Given the description of an element on the screen output the (x, y) to click on. 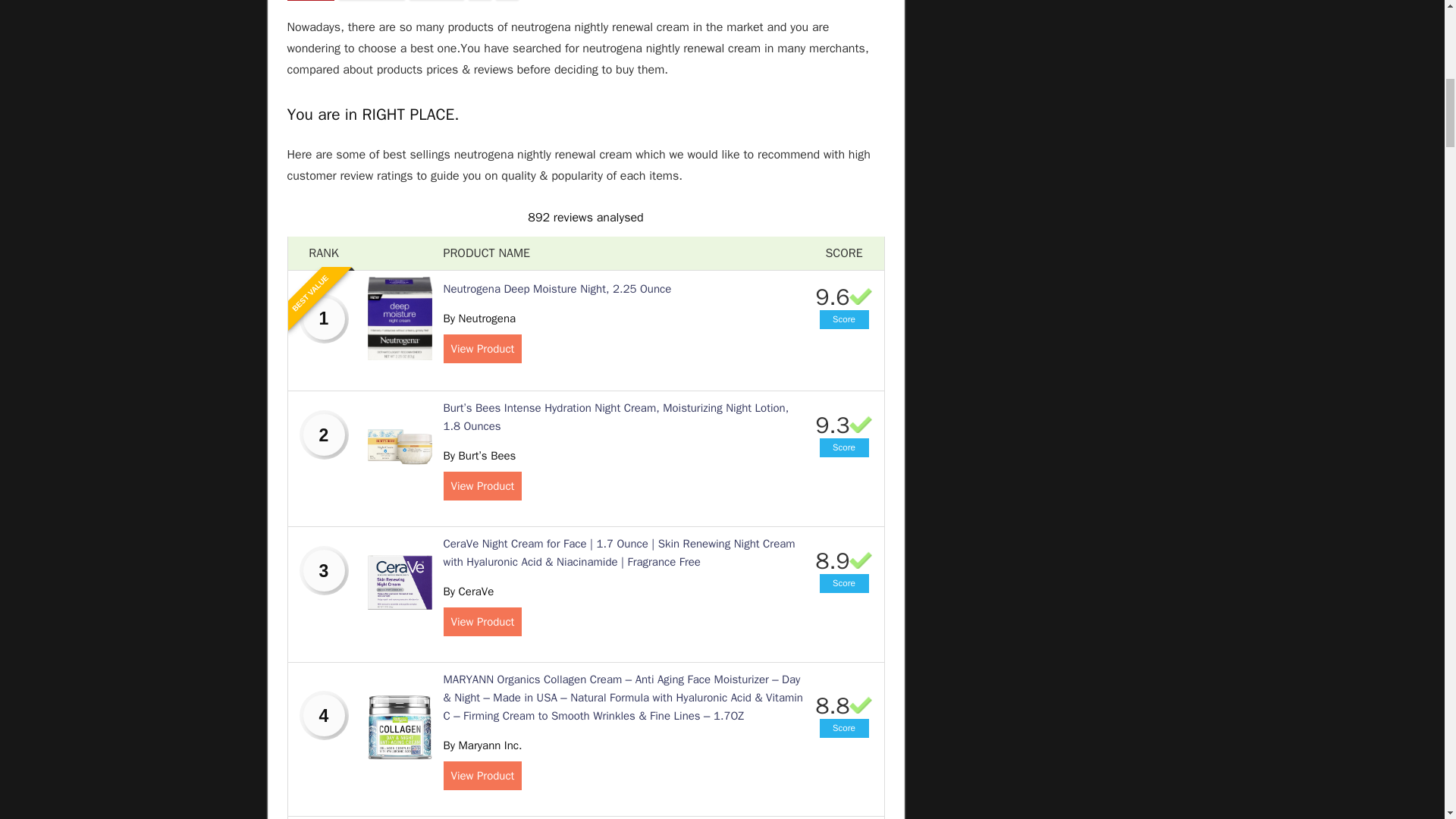
By CeraVe (467, 591)
View Product (481, 775)
View Product (481, 485)
View Product (481, 348)
By Neutrogena (478, 318)
Neutrogena Deep Moisture Night, 2.25 Ounce (556, 288)
By Maryann Inc. (481, 745)
View Product (481, 621)
